Given the description of an element on the screen output the (x, y) to click on. 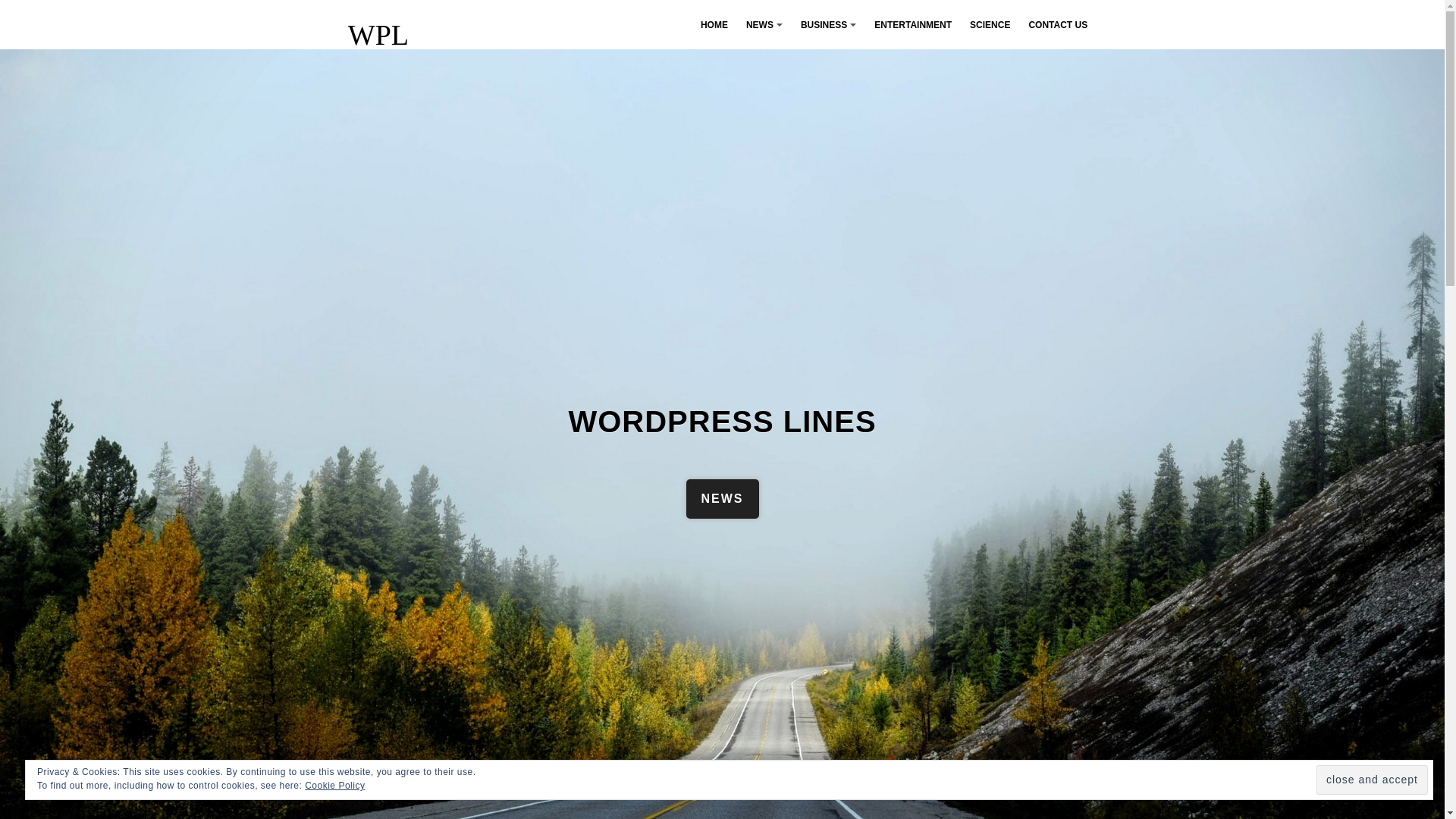
CONTACT US (1057, 24)
close and accept (1372, 779)
SCIENCE (989, 24)
ENTERTAINMENT (912, 24)
NEWS (721, 498)
WPL (378, 34)
HOME (713, 24)
